Given the description of an element on the screen output the (x, y) to click on. 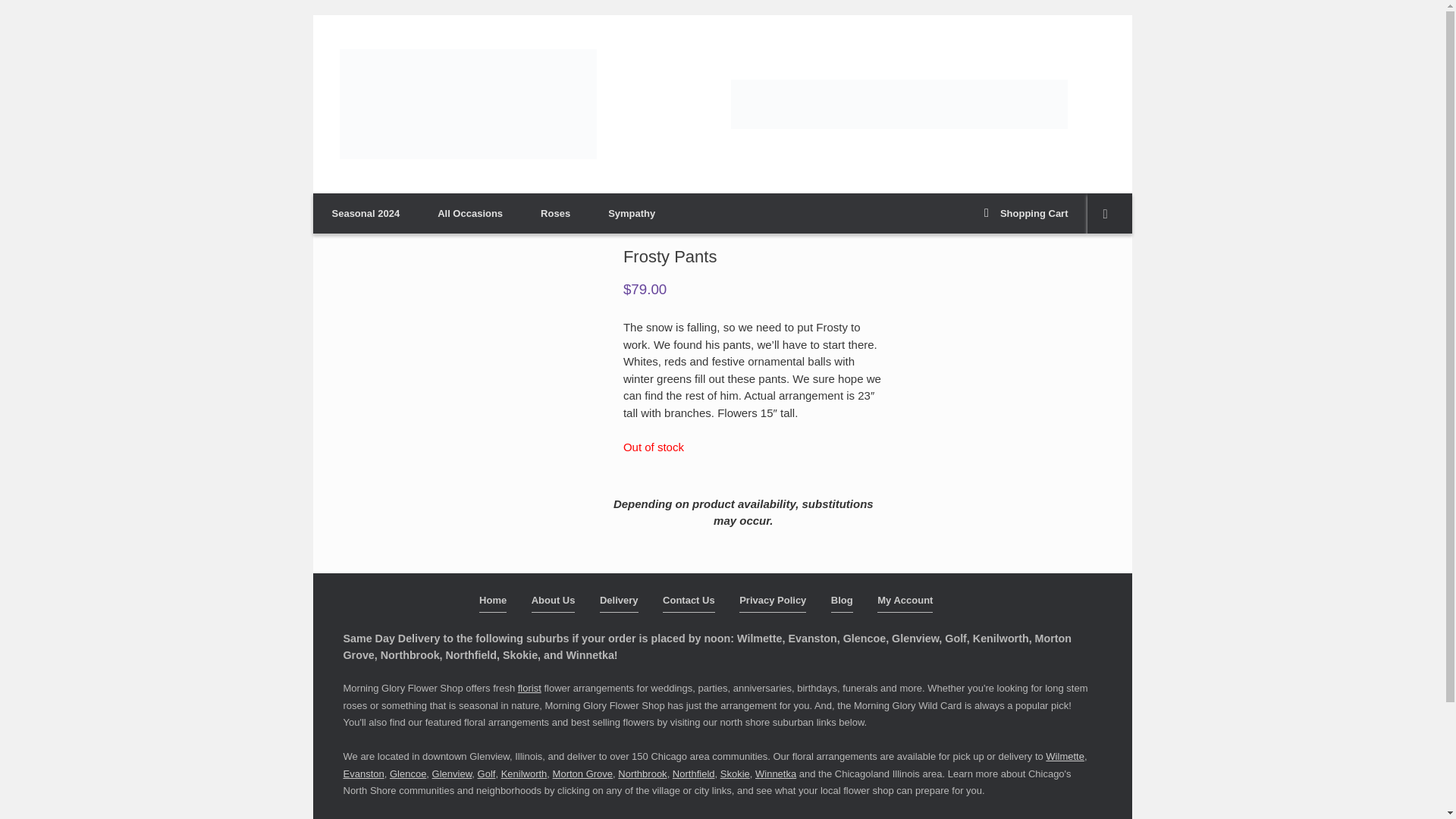
florist (529, 687)
Morning Glory Flower Shop (467, 103)
Fresh Flower Arrangements (898, 103)
Shopping Cart (1025, 213)
Glencoe (408, 773)
Delivery (619, 602)
Winnetka (775, 773)
Sympathy (631, 213)
Privacy Policy (772, 602)
Seasonal 2024 (366, 213)
Skokie (734, 773)
Roses (555, 213)
Glenview (451, 773)
Kenilworth (523, 773)
